Given the description of an element on the screen output the (x, y) to click on. 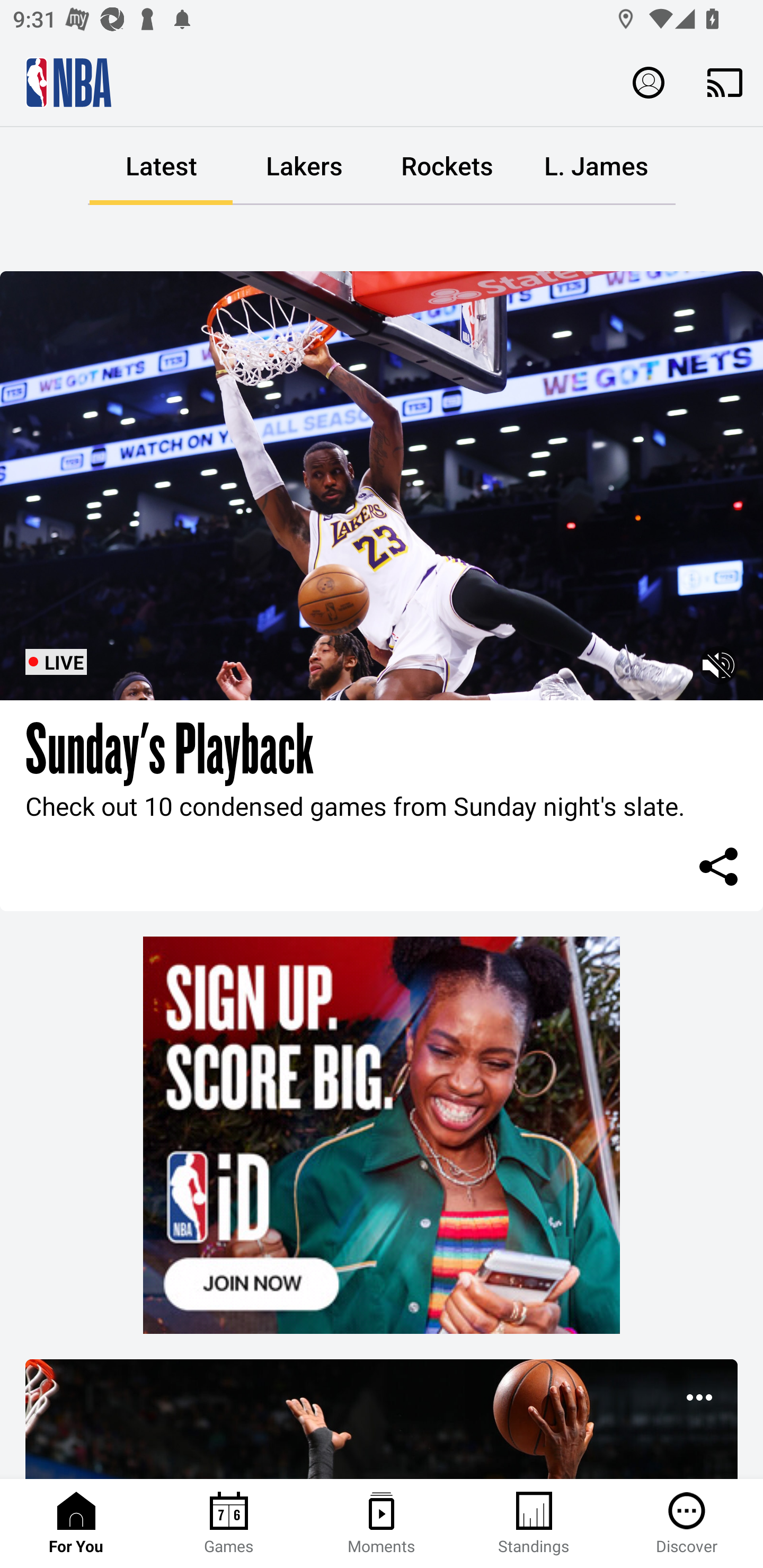
Cast. Disconnected (724, 82)
Profile (648, 81)
Lakers (303, 166)
Rockets (446, 166)
L. James (595, 166)
Games (228, 1523)
Moments (381, 1523)
Standings (533, 1523)
Discover (686, 1523)
